Given the description of an element on the screen output the (x, y) to click on. 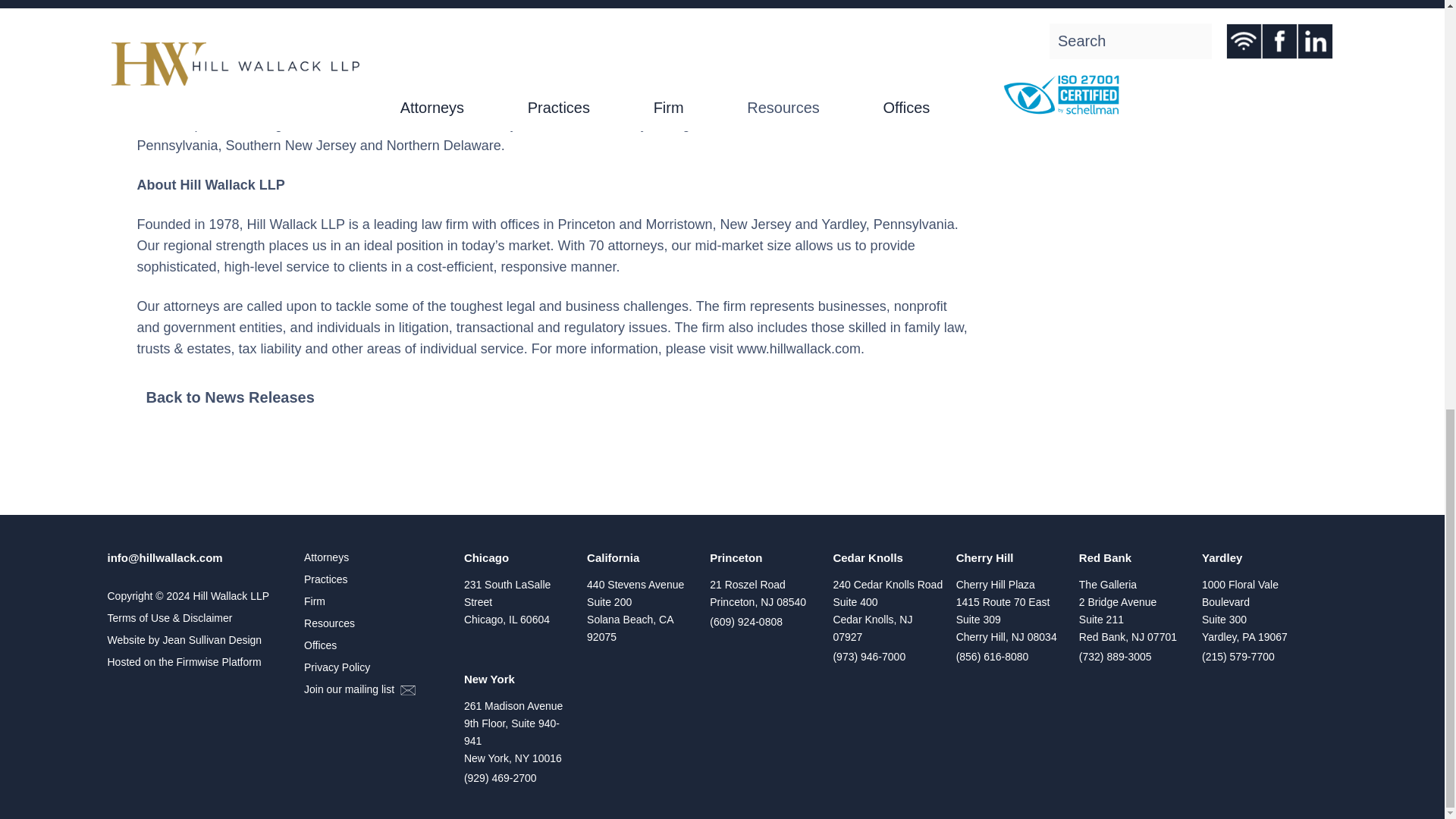
Law Firm Website Hosting and Content Management System (197, 662)
